Given the description of an element on the screen output the (x, y) to click on. 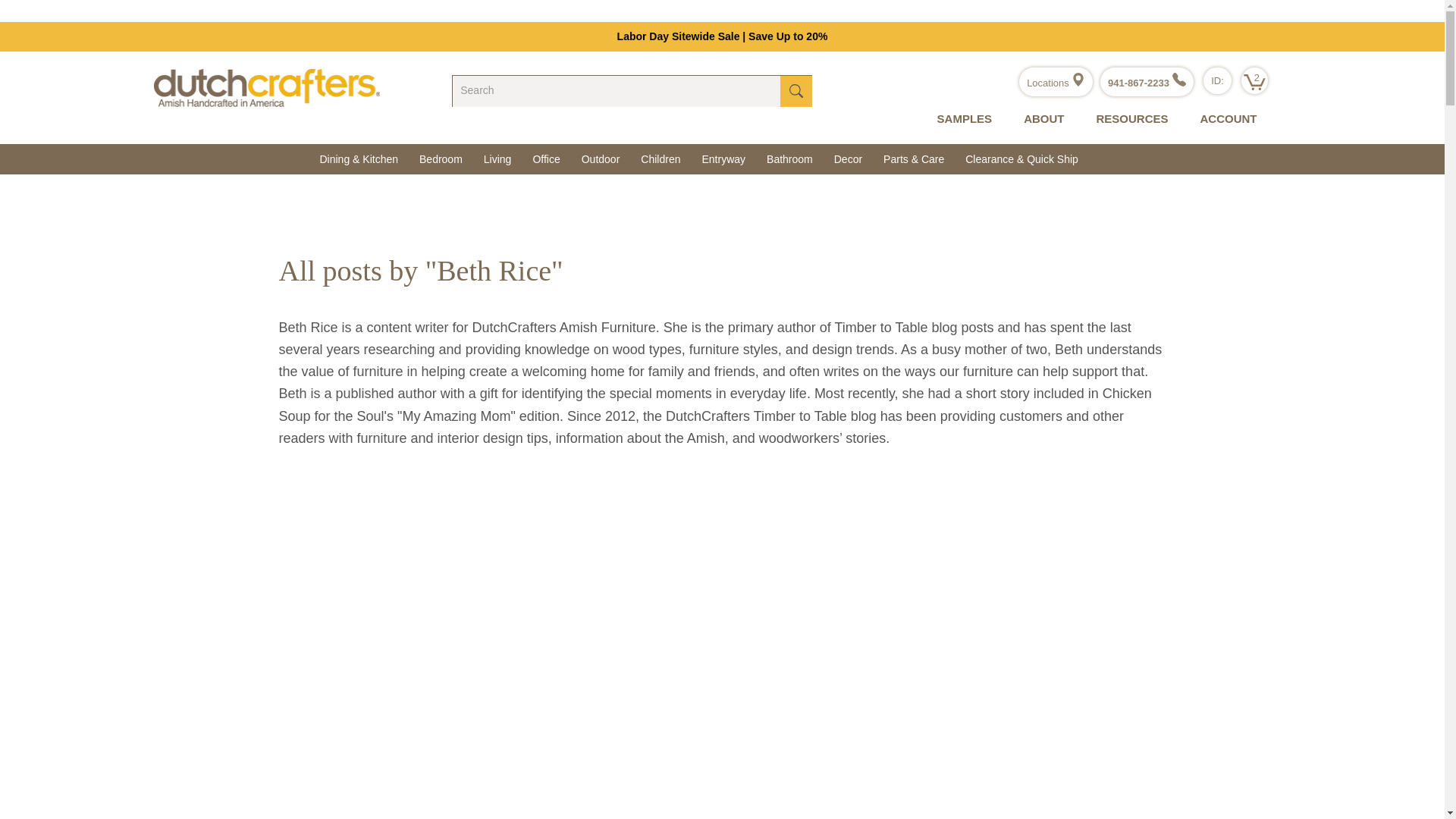
941-867-2233 (1147, 82)
ACCOUNT (1224, 118)
RESOURCES (1128, 118)
SAMPLES (961, 118)
ABOUT (1039, 118)
2 (1254, 81)
Locations (1055, 82)
